Given the description of an element on the screen output the (x, y) to click on. 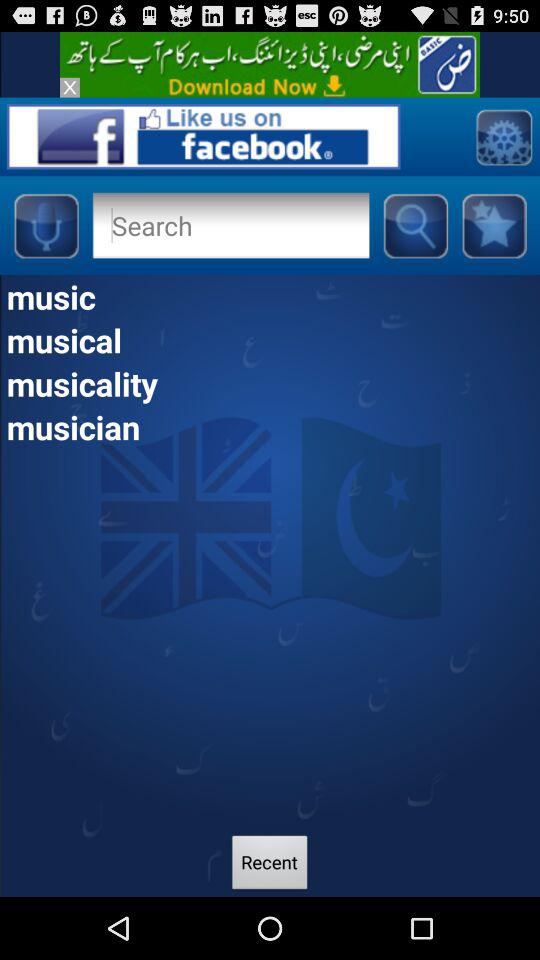
launch musicality icon (270, 383)
